Given the description of an element on the screen output the (x, y) to click on. 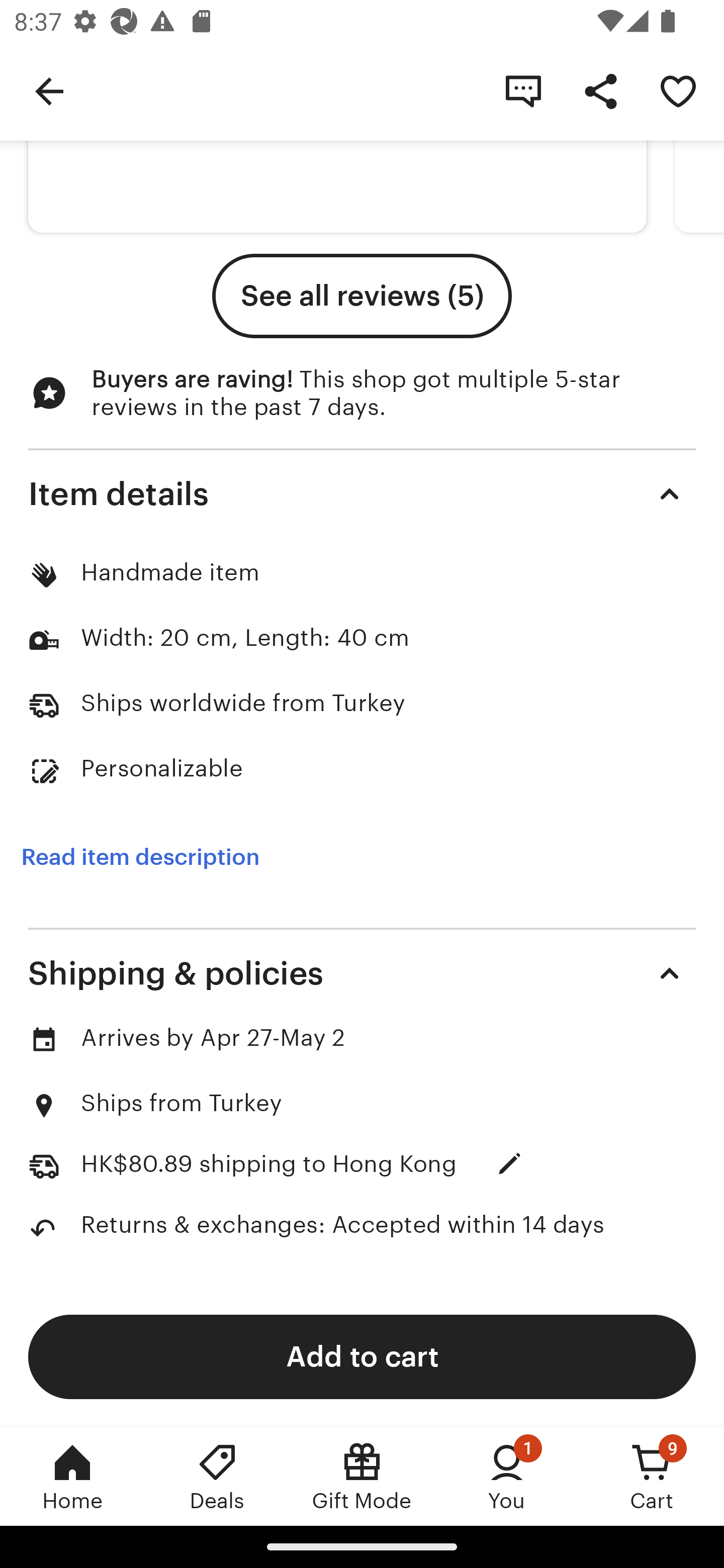
Navigate up (49, 90)
Contact shop (523, 90)
Share (600, 90)
See all reviews (5) (361, 296)
Item details (362, 493)
Read item description (140, 857)
Shipping & policies (362, 973)
Update (509, 1163)
Add to cart (361, 1355)
Deals (216, 1475)
Gift Mode (361, 1475)
You, 1 new notification You (506, 1475)
Cart, 9 new notifications Cart (651, 1475)
